Given the description of an element on the screen output the (x, y) to click on. 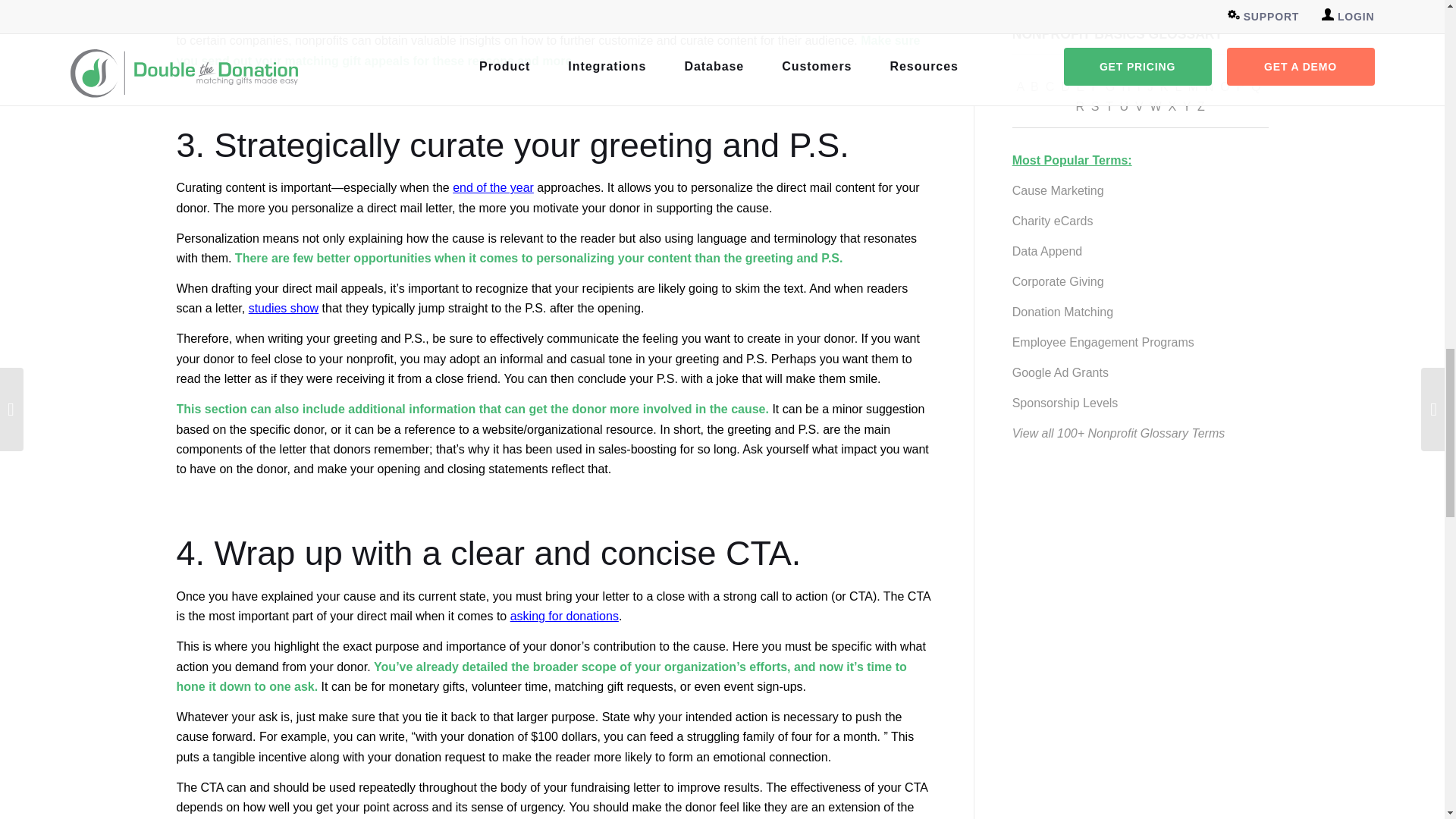
asking for donations (564, 615)
end of the year (493, 187)
studies show (283, 308)
